Given the description of an element on the screen output the (x, y) to click on. 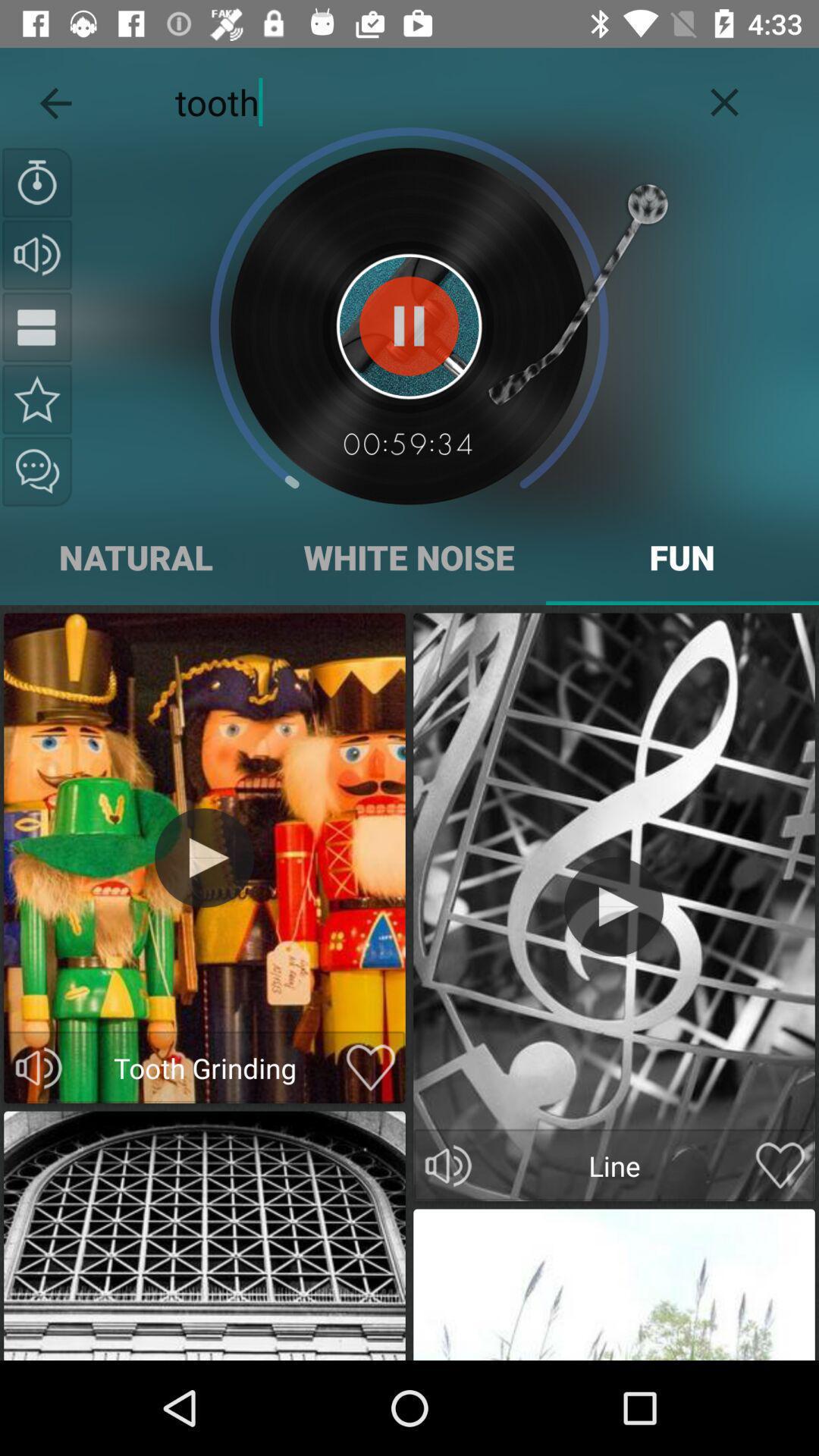
share this sound (37, 471)
